Given the description of an element on the screen output the (x, y) to click on. 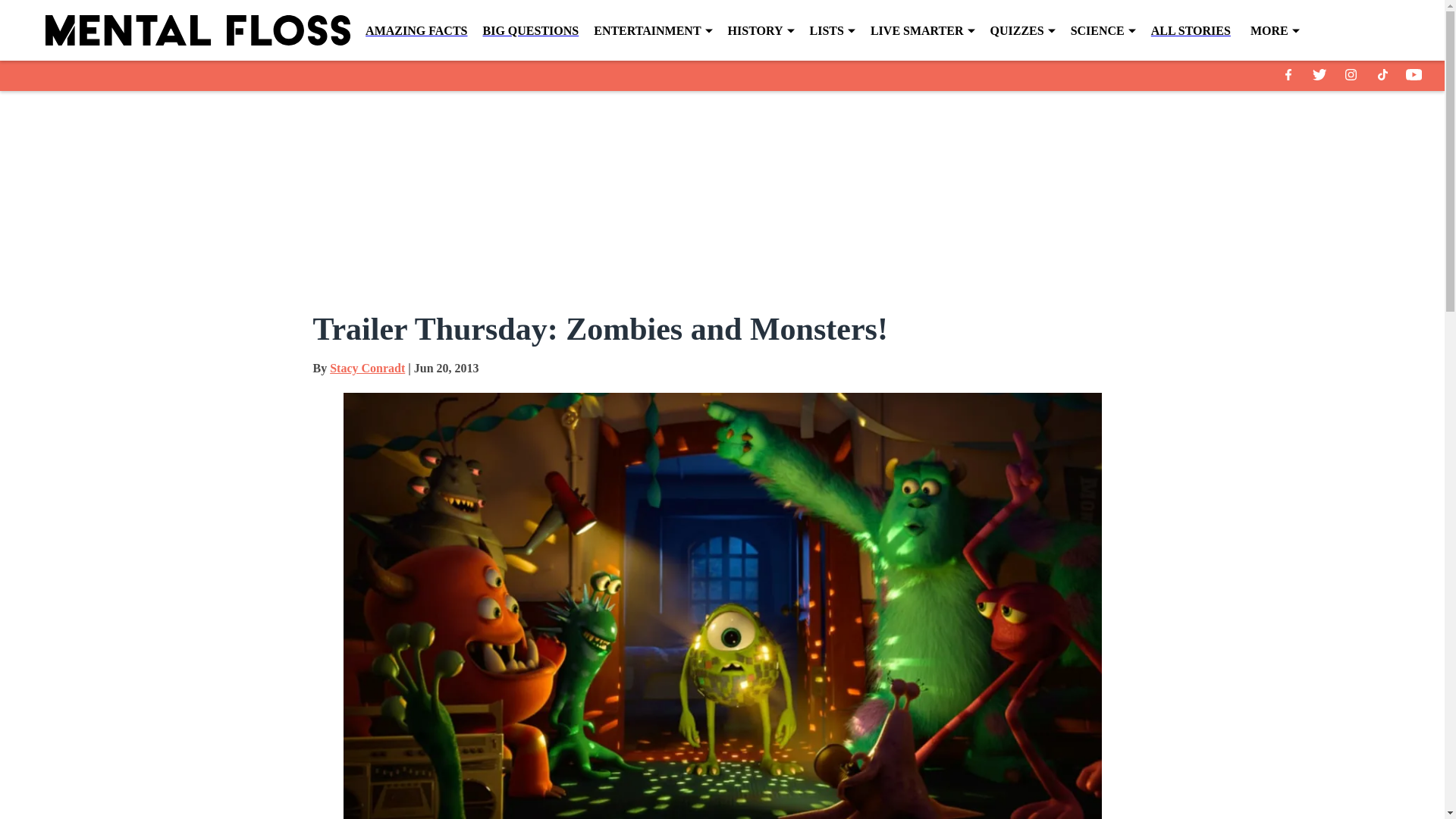
BIG QUESTIONS (529, 31)
ALL STORIES (1190, 31)
AMAZING FACTS (416, 31)
MORE (1275, 30)
